Given the description of an element on the screen output the (x, y) to click on. 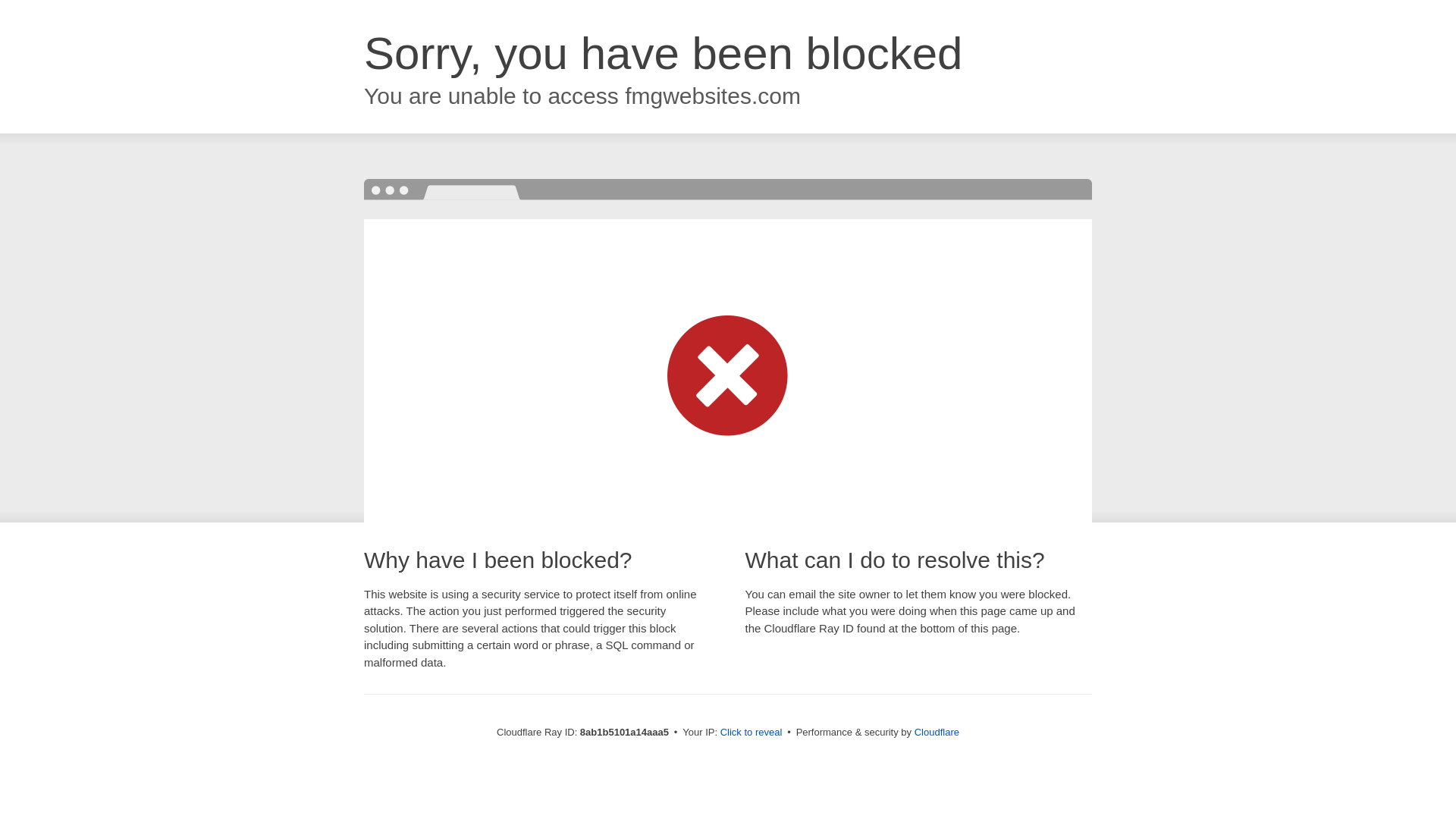
Click to reveal (751, 732)
Cloudflare (936, 731)
